Given the description of an element on the screen output the (x, y) to click on. 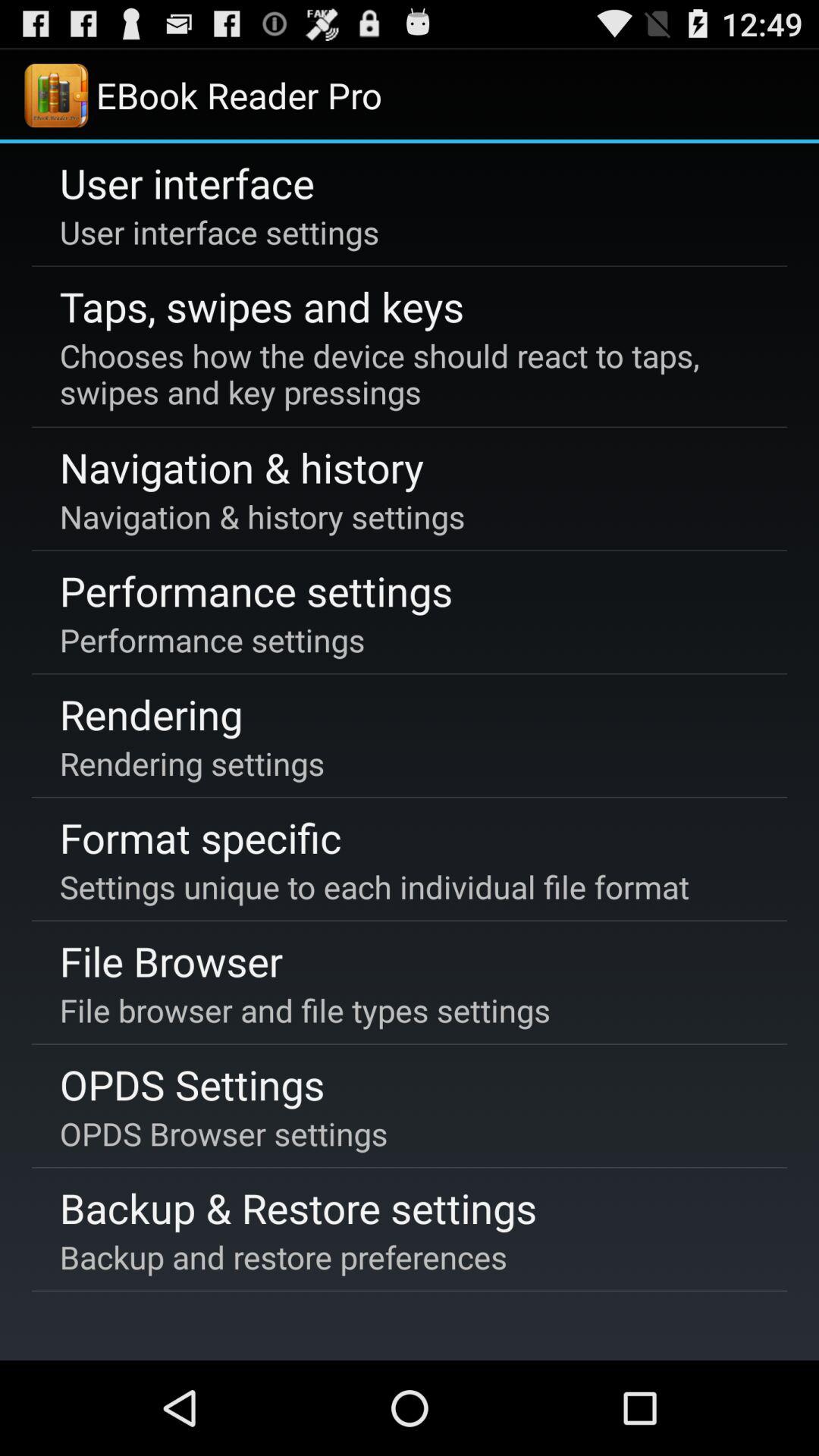
jump until the format specific (200, 837)
